Given the description of an element on the screen output the (x, y) to click on. 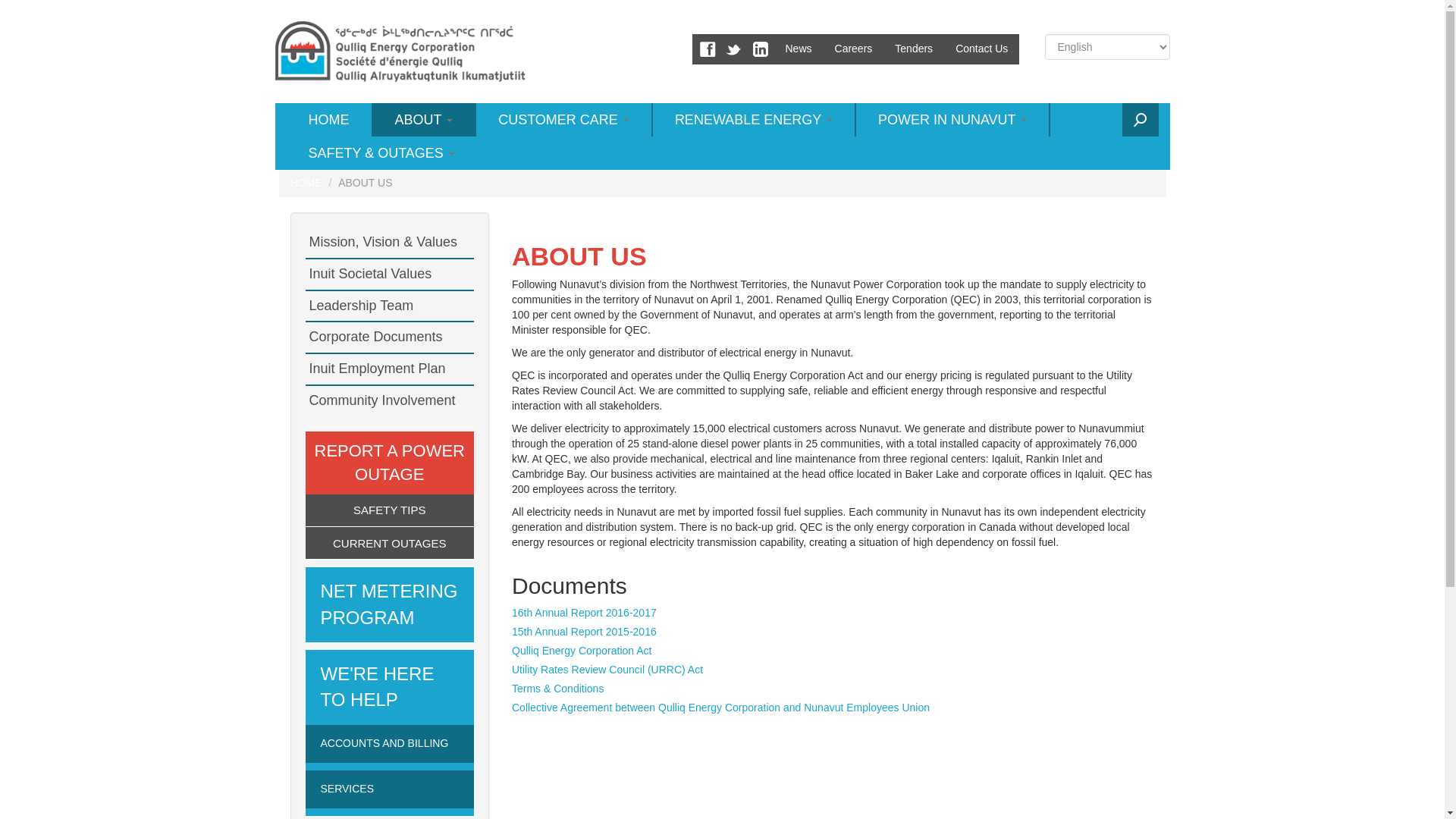
RENEWABLE ENERGY (754, 119)
Facebook (705, 48)
ABOUT (424, 119)
Home (399, 51)
Twitter (732, 48)
Contact Us (981, 49)
HOME (329, 119)
News (797, 49)
Tenders (913, 49)
